Given the description of an element on the screen output the (x, y) to click on. 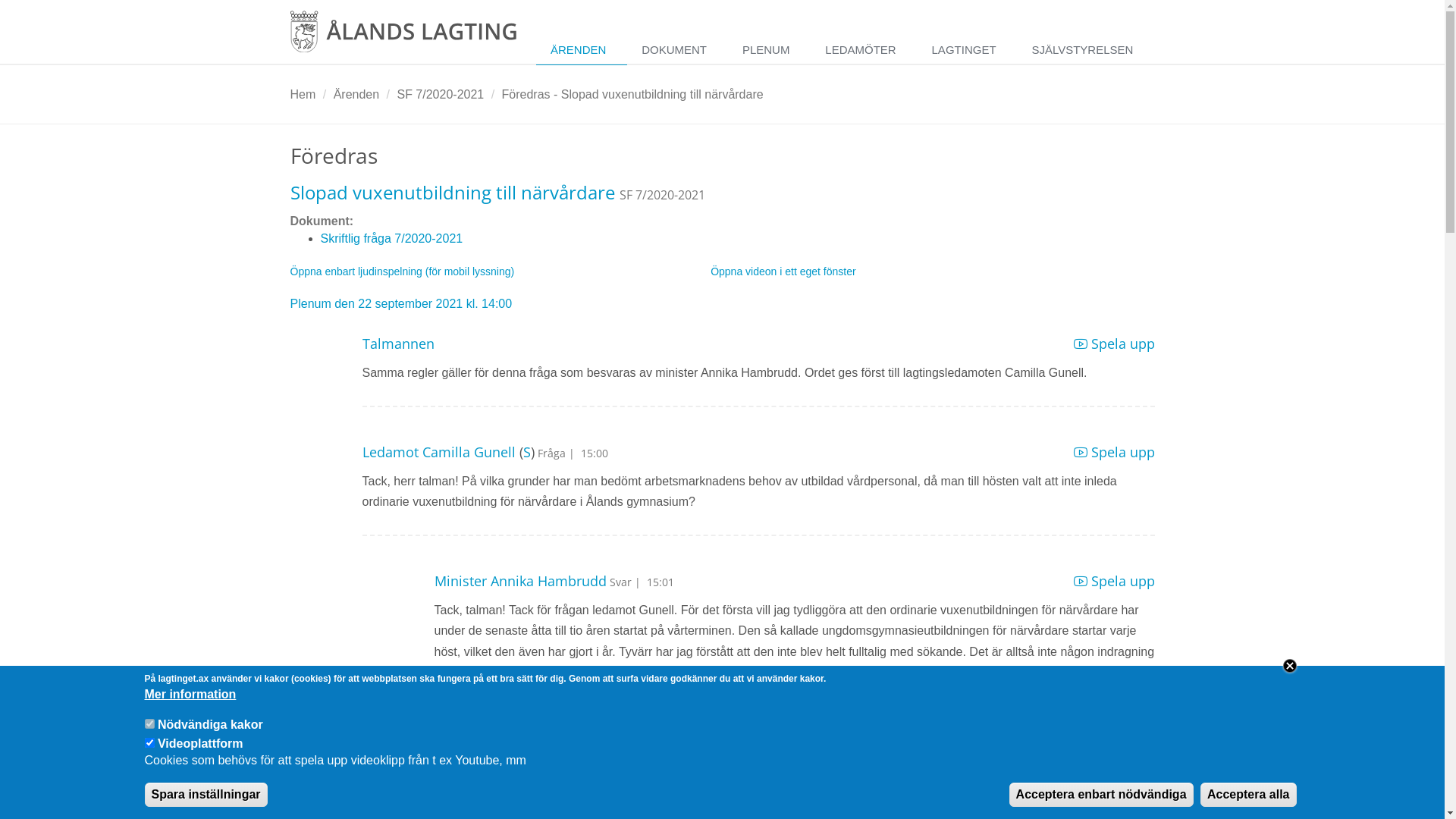
Minister Annika Hambrudd Element type: text (519, 580)
SF 7/2020-2021 Element type: text (439, 93)
Acceptera alla Element type: text (1248, 793)
S Element type: text (526, 451)
Mer information Element type: text (189, 695)
Hem Element type: text (302, 93)
Plenum den 22 september 2021 kl. 14:00 Element type: text (400, 303)
Close Element type: text (1289, 665)
 Spela upp Element type: text (1113, 451)
Talmannen Element type: text (398, 343)
PLENUM Element type: text (769, 49)
 Spela upp Element type: text (1113, 343)
Ledamot Camilla Gunell Element type: text (438, 451)
DOKUMENT Element type: text (677, 49)
 Spela upp Element type: text (1113, 580)
LAGTINGET Element type: text (967, 49)
